Given the description of an element on the screen output the (x, y) to click on. 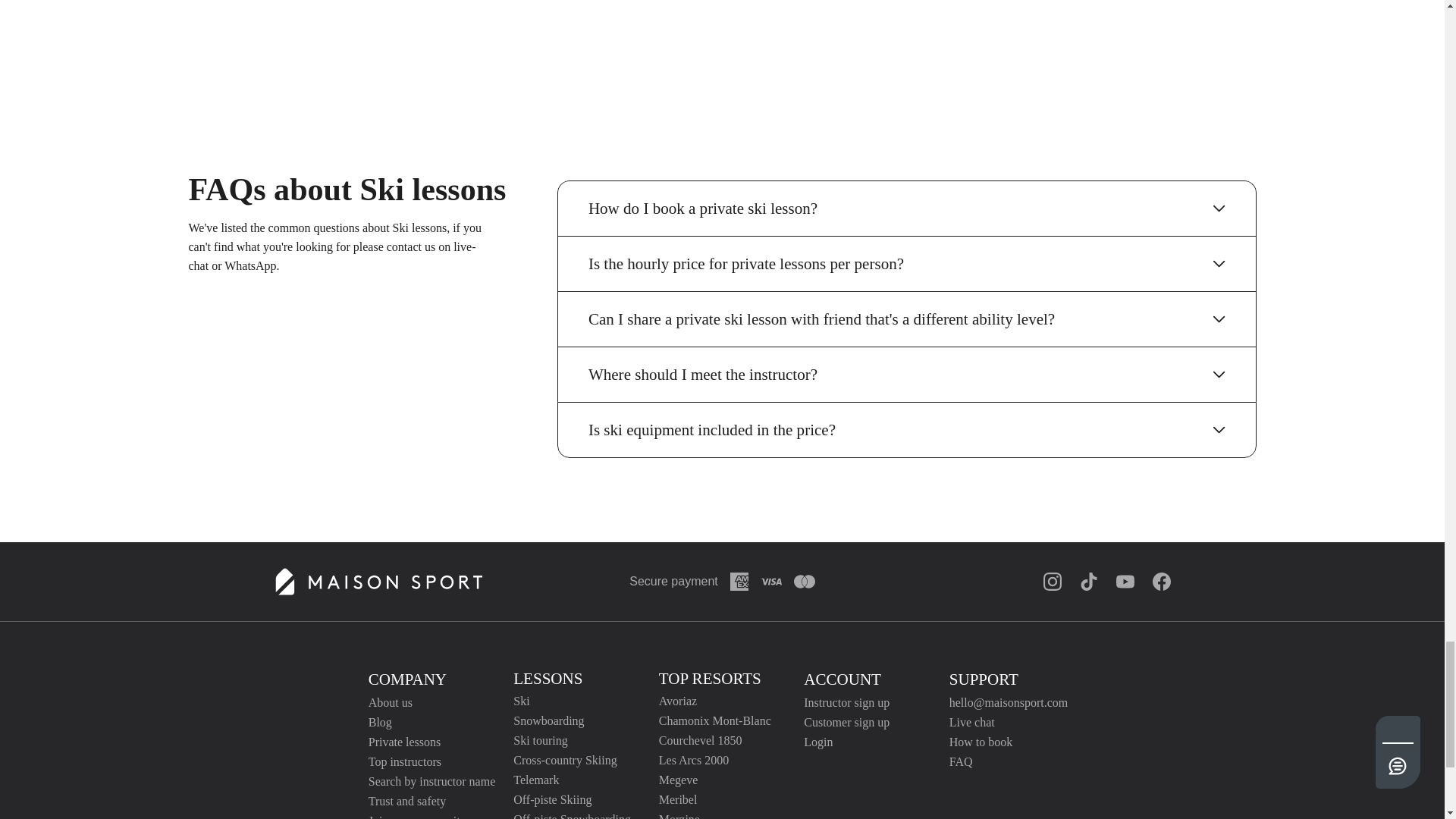
LESSONS (547, 678)
About us (432, 702)
Blog (432, 722)
Ski (571, 701)
Off-piste Skiing (571, 799)
Private lessons (432, 742)
Search by instructor name (432, 781)
Ski touring (571, 740)
Cross-country Skiing (571, 760)
How do I book a private ski lesson? (906, 207)
Is ski equipment included in the price? (906, 429)
Is the hourly price for private lessons per person? (906, 263)
Where should I meet the instructor? (906, 374)
Snowboarding (571, 720)
